Given the description of an element on the screen output the (x, y) to click on. 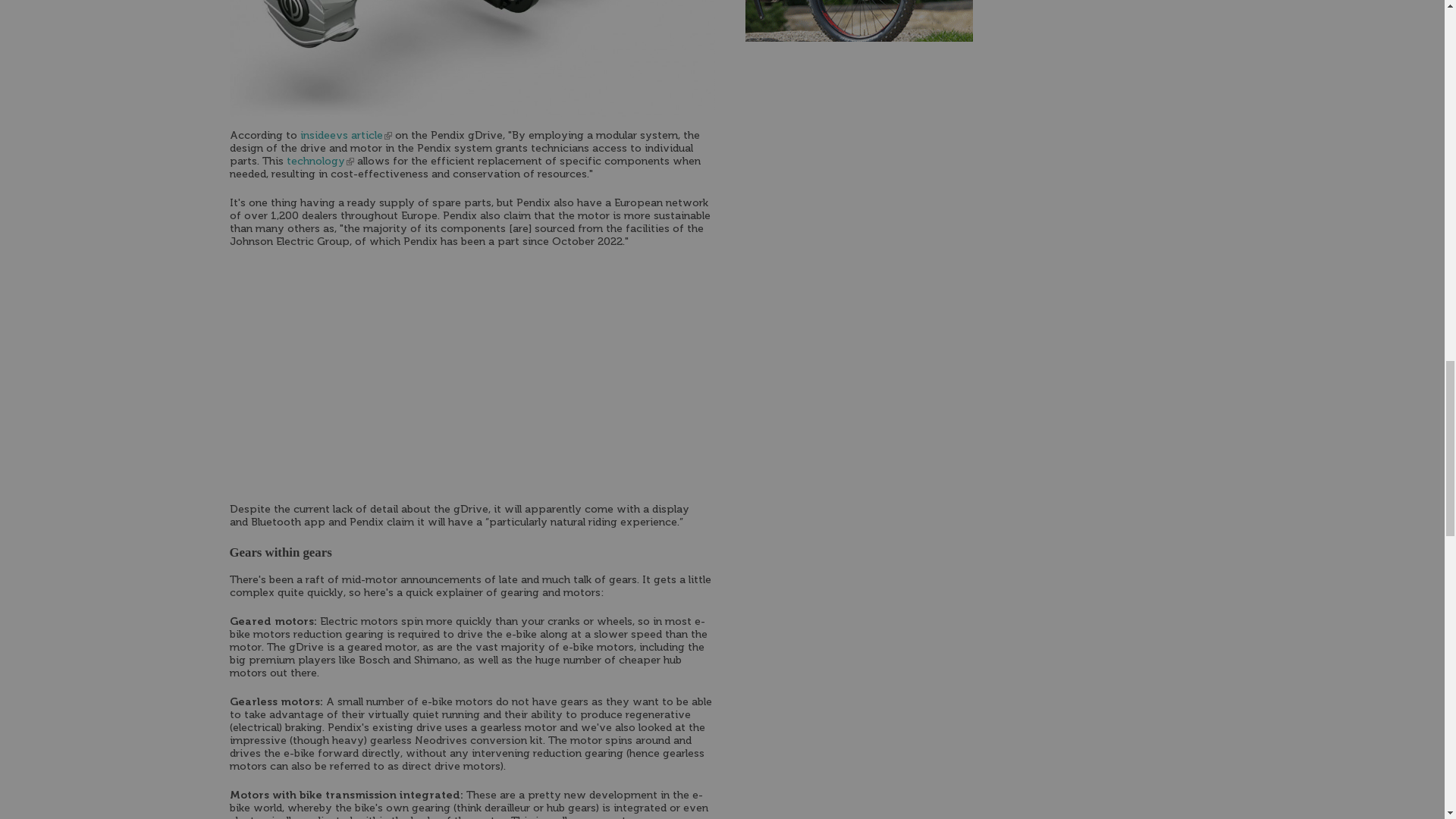
insideevs article (345, 135)
technology (319, 161)
Pendix gDrive Exploded.jpg (471, 58)
